Given the description of an element on the screen output the (x, y) to click on. 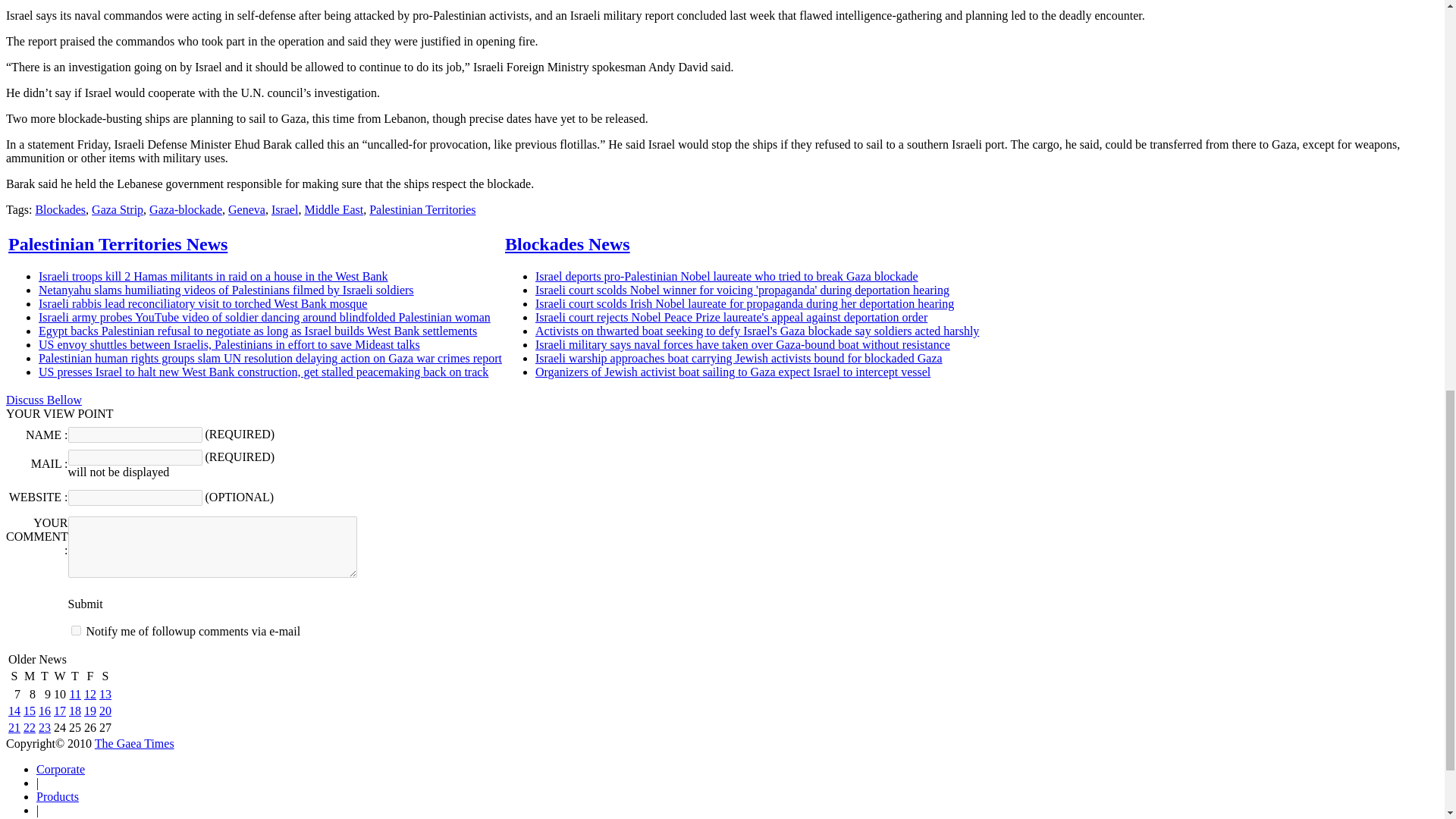
Israel (284, 209)
Gaza Strip (116, 209)
Blockades (59, 209)
Middle East (333, 209)
Geneva (246, 209)
Gaza-blockade (185, 209)
subscribe (76, 630)
